Given the description of an element on the screen output the (x, y) to click on. 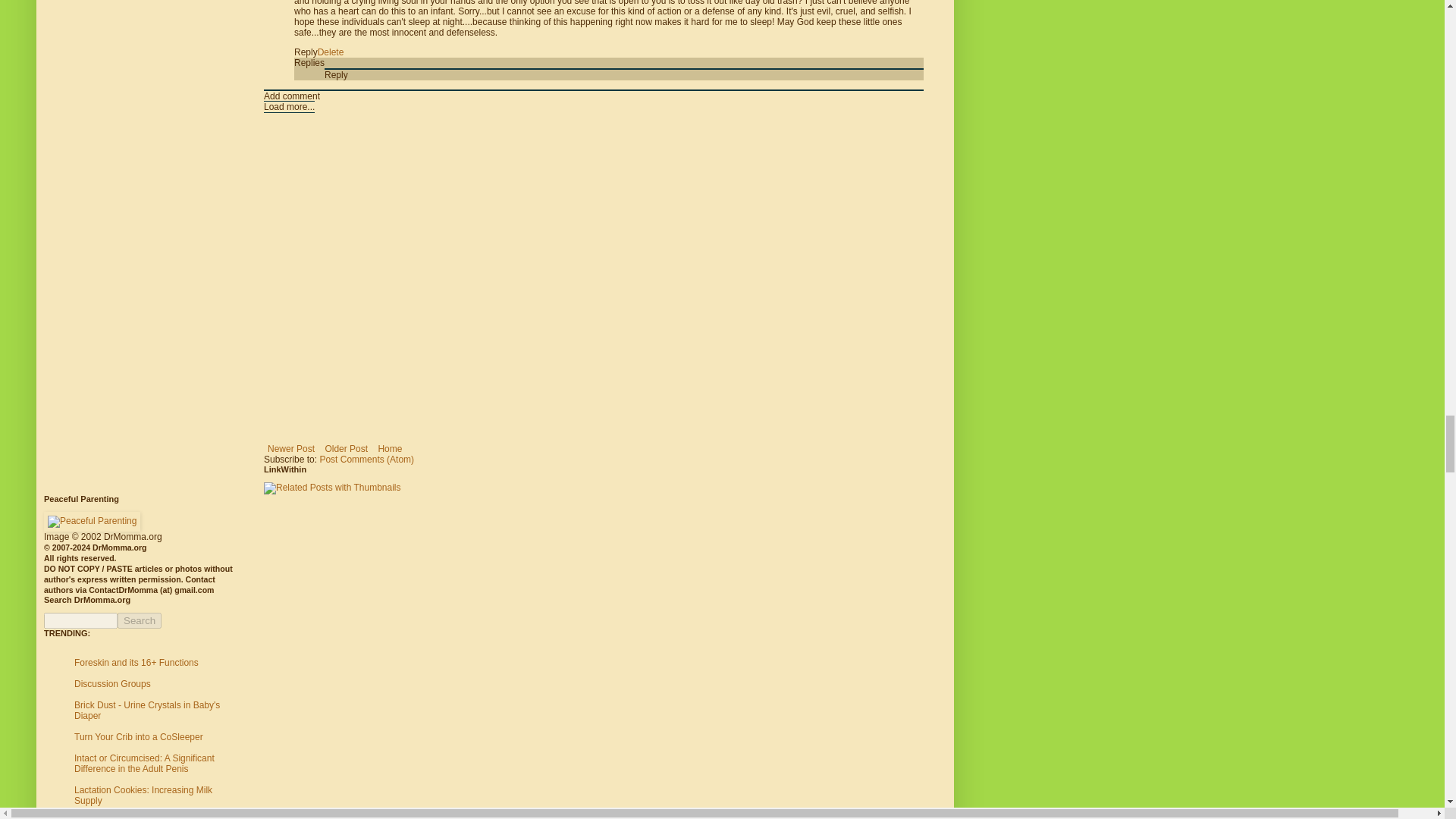
Older Post (345, 448)
Search (139, 620)
search (80, 620)
search (139, 620)
Newer Post (290, 448)
Search (139, 620)
